Given the description of an element on the screen output the (x, y) to click on. 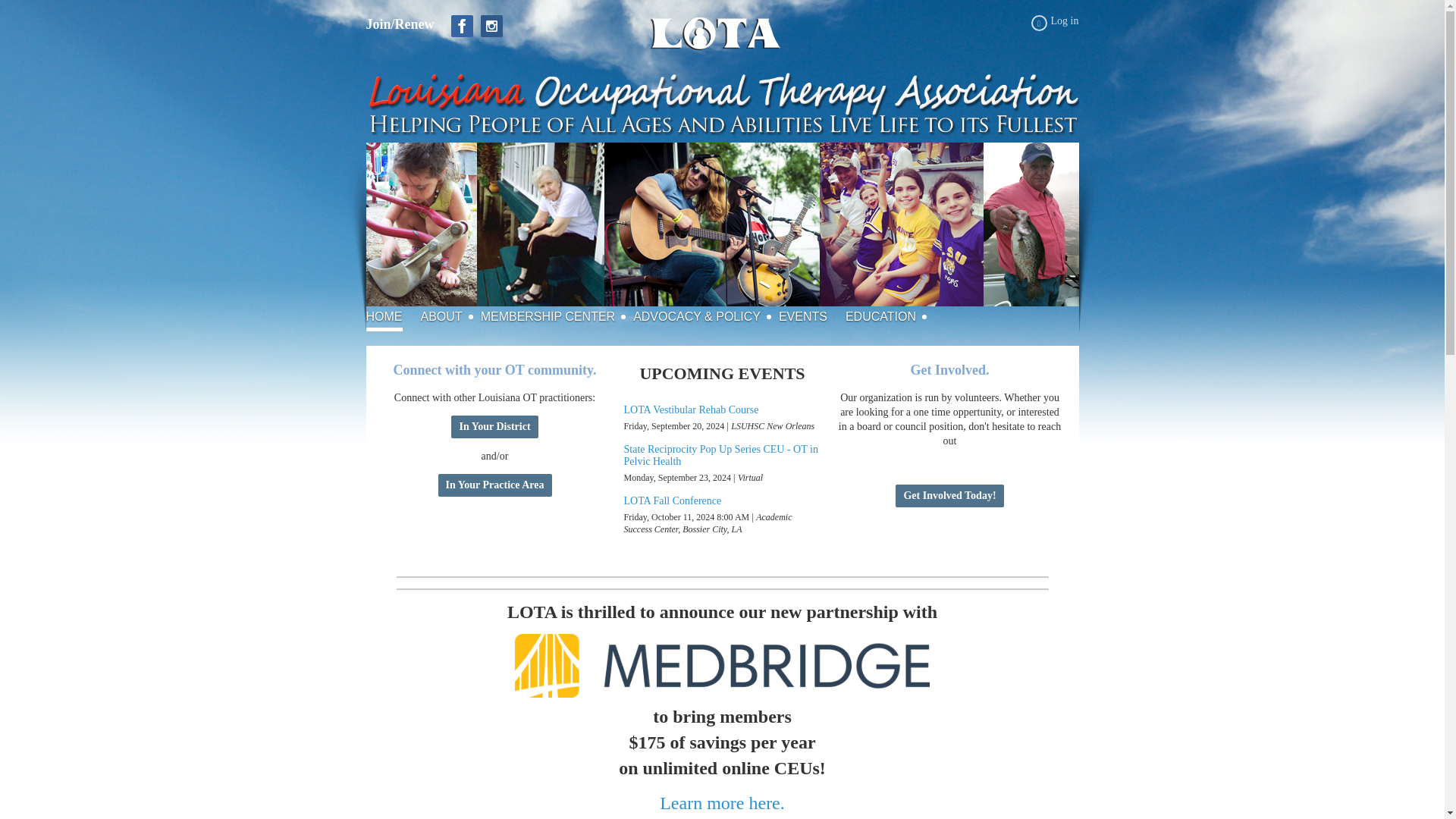
LOTA Vestibular Rehab Course (690, 409)
LOTA Fall Conference (671, 500)
Facebook (462, 25)
ABOUT (450, 316)
About (450, 316)
MEMBERSHIP CENTER (556, 316)
Log in (1054, 23)
Membership Center (556, 316)
HOME (392, 316)
Get Involved Today! (949, 495)
